Given the description of an element on the screen output the (x, y) to click on. 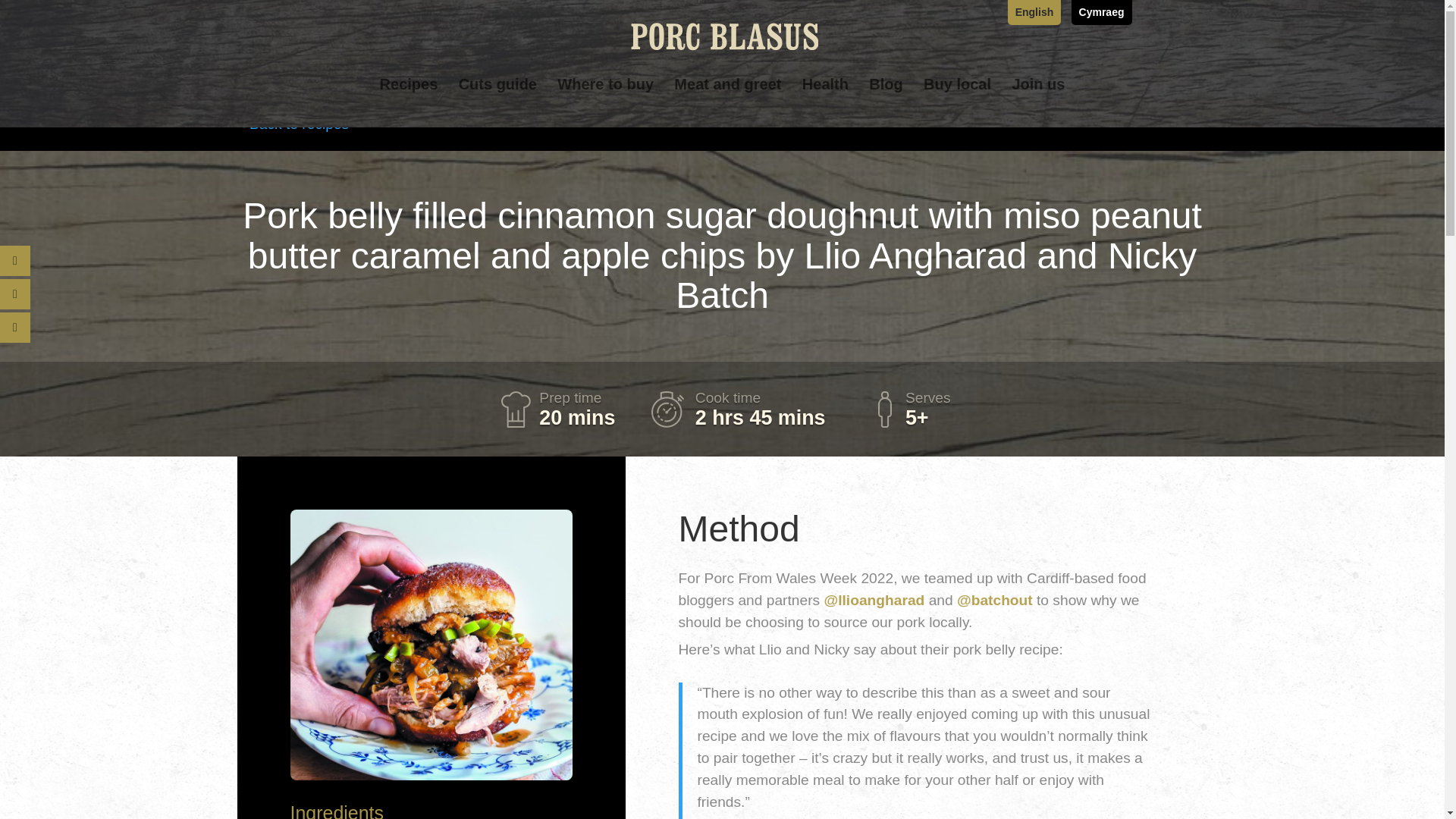
Health (825, 98)
Meat and greet (727, 98)
Where to buy (605, 98)
Cymraeg (1101, 16)
Blog (885, 98)
Cuts guide (497, 98)
Buy local (957, 98)
Join us (1037, 98)
Recipes (409, 98)
English (1034, 16)
